Given the description of an element on the screen output the (x, y) to click on. 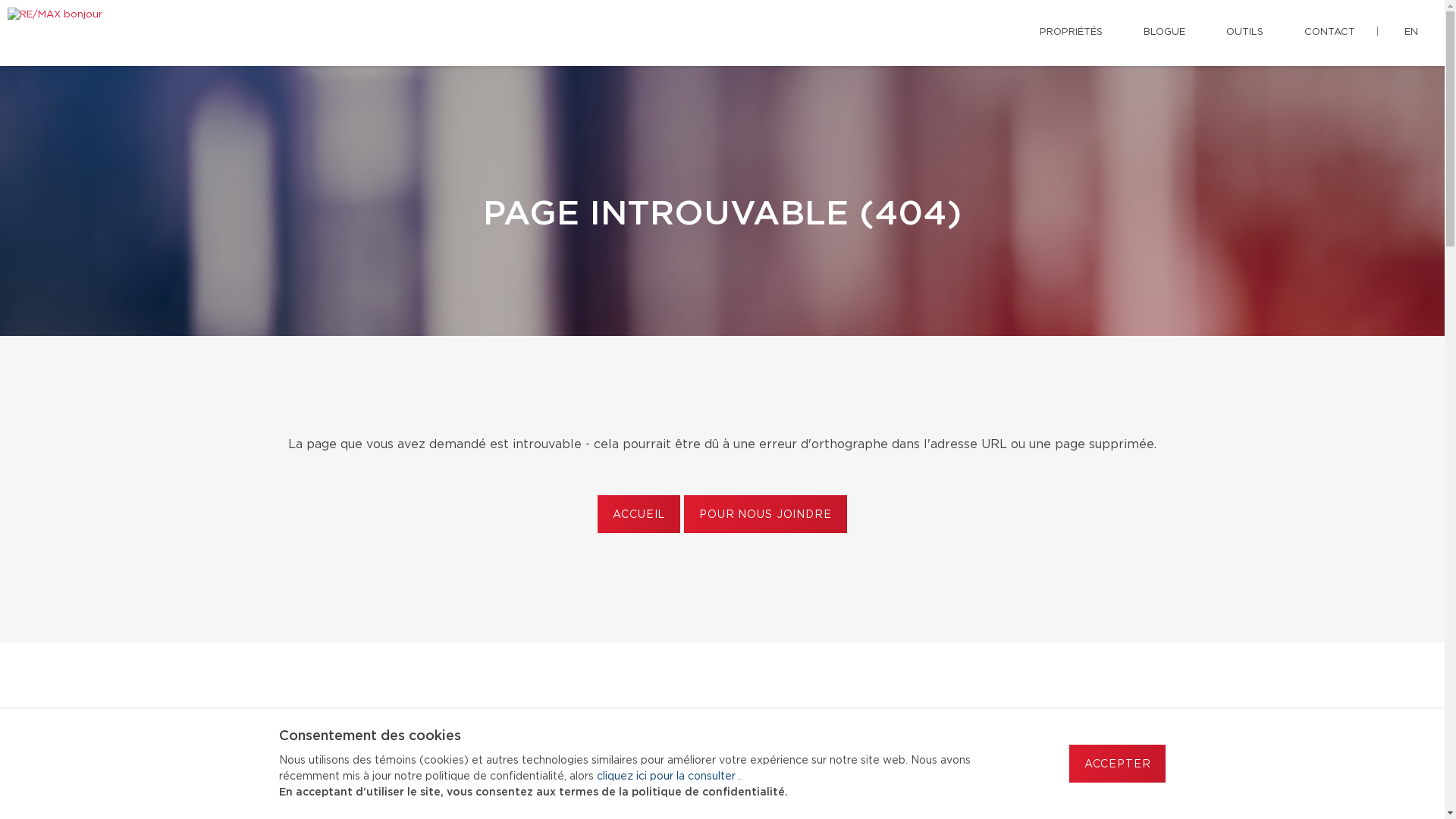
BLOGUE Element type: text (1164, 32)
cliquez ici pour la consulter Element type: text (666, 776)
POUR NOUS JOINDRE Element type: text (765, 514)
ACCUEIL Element type: text (638, 514)
OUTILS Element type: text (1244, 32)
CONTACT Element type: text (1329, 32)
ACCEPTER Element type: text (1117, 763)
EN Element type: text (1411, 32)
